Given the description of an element on the screen output the (x, y) to click on. 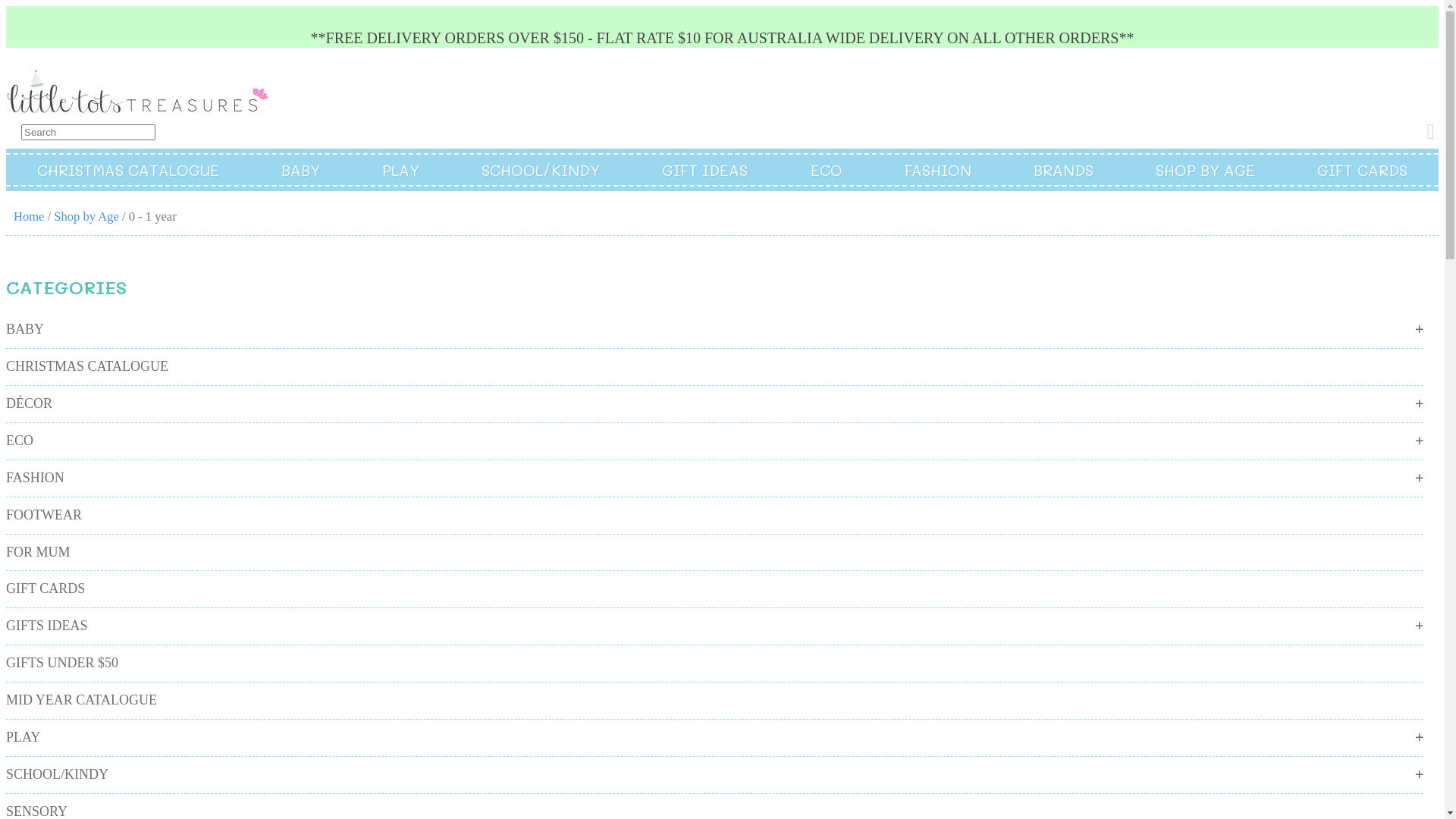
SCHOOL/KINDY Element type: text (540, 169)
CHRISTMAS CATALOGUE Element type: text (87, 365)
PLAY Element type: text (23, 736)
BRANDS Element type: text (1063, 169)
View your shopping cart Element type: hover (1432, 131)
GIFT CARDS Element type: text (45, 588)
CHRISTMAS CATALOGUE Element type: text (128, 169)
FOOTWEAR Element type: text (43, 514)
GIFT IDEAS Element type: text (704, 169)
Shop by Age Element type: text (86, 216)
Home Element type: text (28, 216)
FOR MUM Element type: text (38, 551)
ECO Element type: text (19, 440)
GIFTS UNDER $50 Element type: text (62, 662)
GIFT CARDS Element type: text (1362, 169)
MID YEAR CATALOGUE Element type: text (81, 699)
SCHOOL/KINDY Element type: text (57, 773)
BABY Element type: text (300, 169)
GIFTS IDEAS Element type: text (46, 625)
BABY Element type: text (24, 328)
ECO Element type: text (826, 169)
FASHION Element type: text (35, 477)
FASHION Element type: text (937, 169)
SHOP BY AGE Element type: text (1205, 169)
PLAY Element type: text (400, 169)
